Given the description of an element on the screen output the (x, y) to click on. 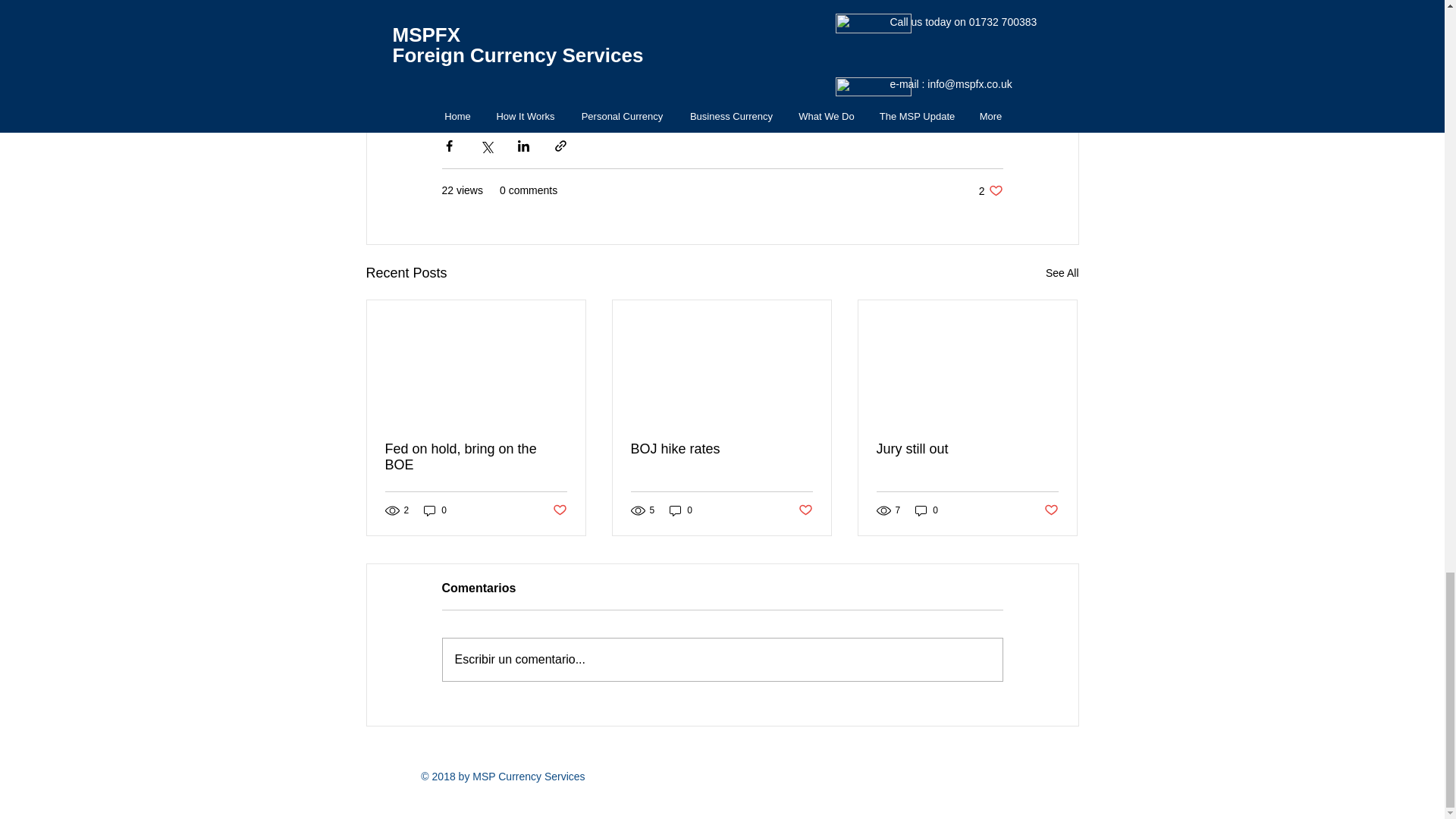
Post not marked as liked (558, 510)
Post not marked as liked (1050, 510)
0 (681, 510)
BOJ hike rates (721, 449)
0 (435, 510)
Post not marked as liked (804, 510)
See All (990, 190)
Fed on hold, bring on the BOE (1061, 273)
0 (476, 457)
Jury still out (926, 510)
